Given the description of an element on the screen output the (x, y) to click on. 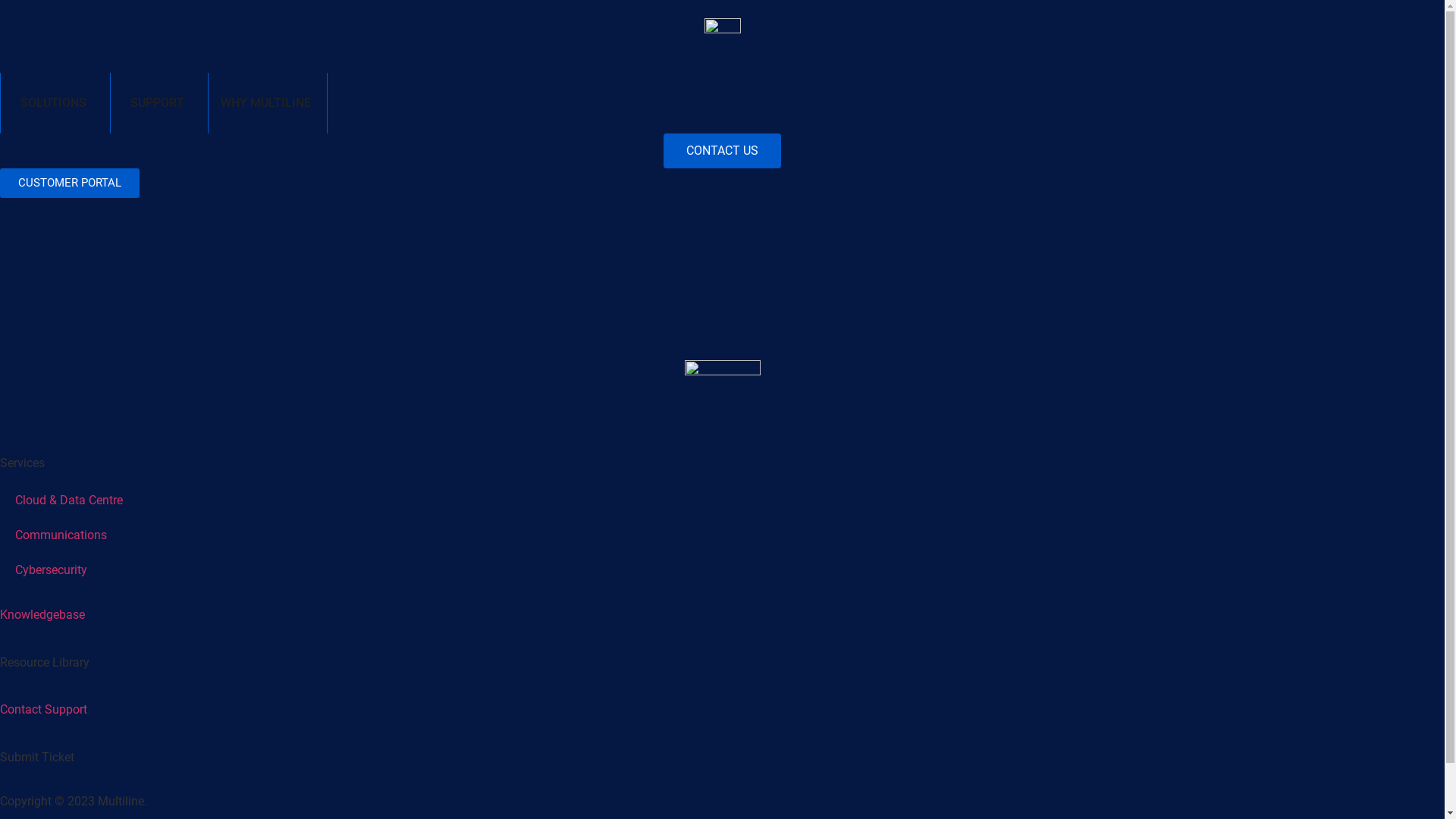
CONTACT US Element type: text (722, 150)
Cloud & Data Centre Element type: text (722, 500)
Cybersecurity Element type: text (722, 569)
Contact Support Element type: text (43, 709)
Communications Element type: text (722, 534)
CUSTOMER PORTAL Element type: text (69, 182)
Knowledgebase Element type: text (42, 614)
WHY MULTILINE Element type: text (265, 103)
